Given the description of an element on the screen output the (x, y) to click on. 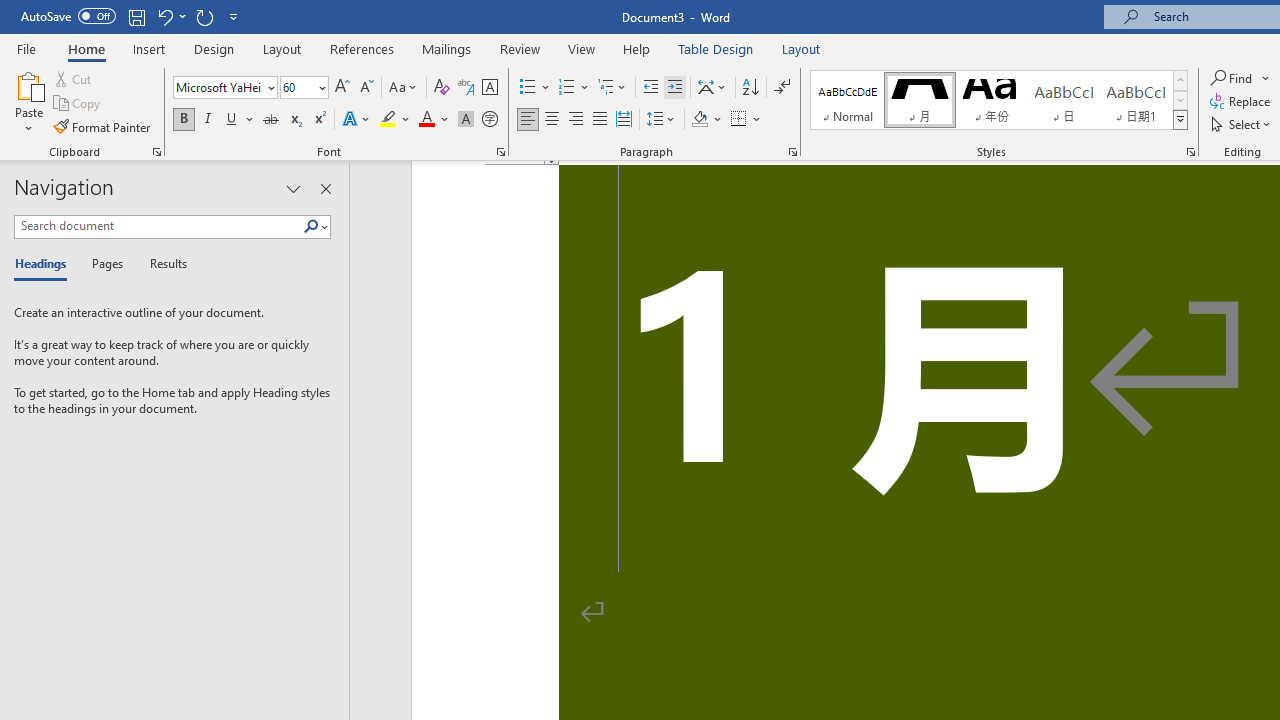
Font Color RGB(255, 0, 0) (426, 119)
